Given the description of an element on the screen output the (x, y) to click on. 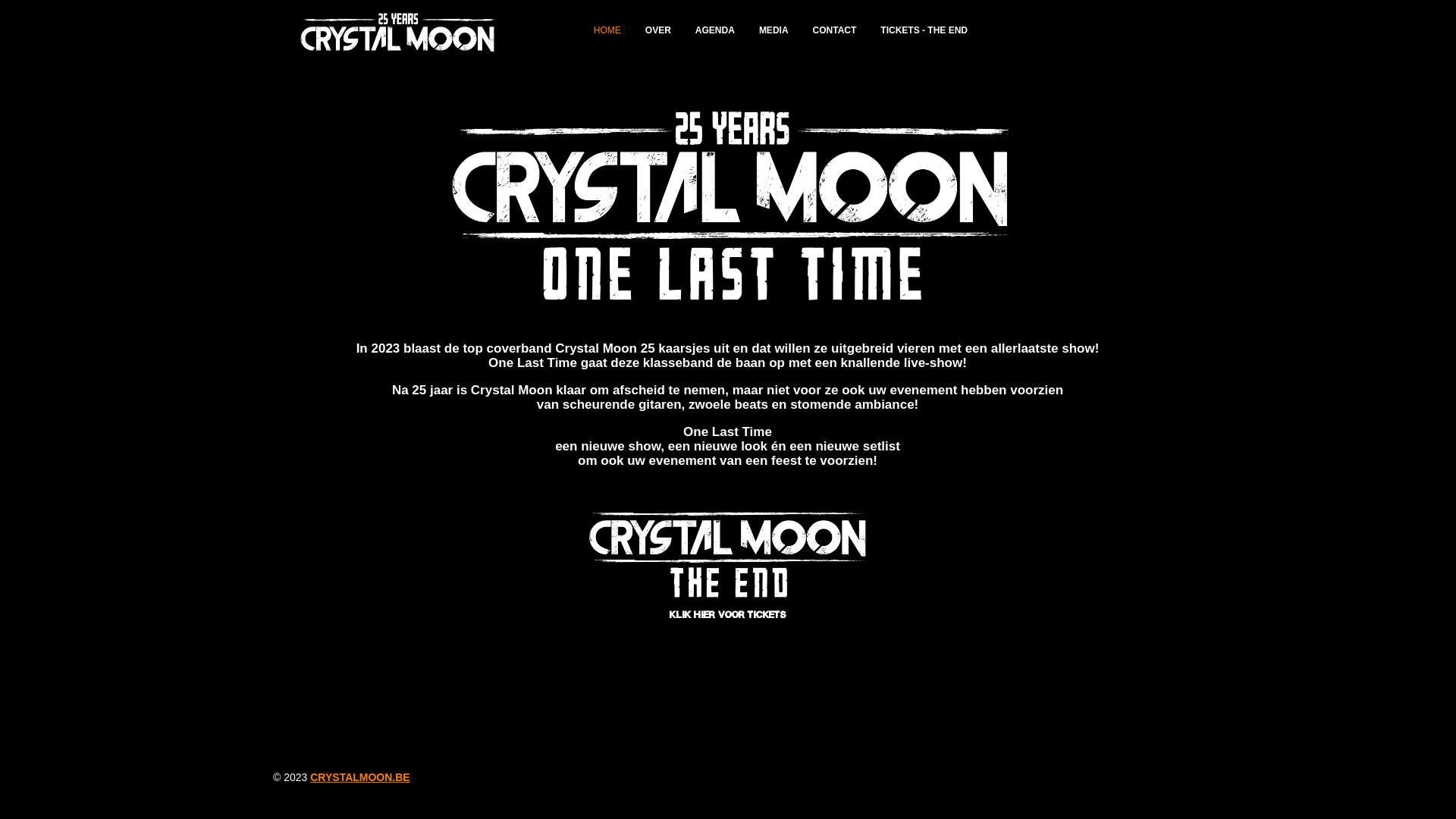
TICKETS - THE END Element type: text (920, 30)
AGENDA Element type: text (711, 30)
OVER Element type: text (654, 30)
HOME Element type: text (604, 30)
CRYSTALMOON.BE Element type: text (359, 777)
MEDIA Element type: text (770, 30)
CONTACT Element type: text (831, 30)
KLIK HIER VOOR TICKETS Element type: text (727, 614)
